Given the description of an element on the screen output the (x, y) to click on. 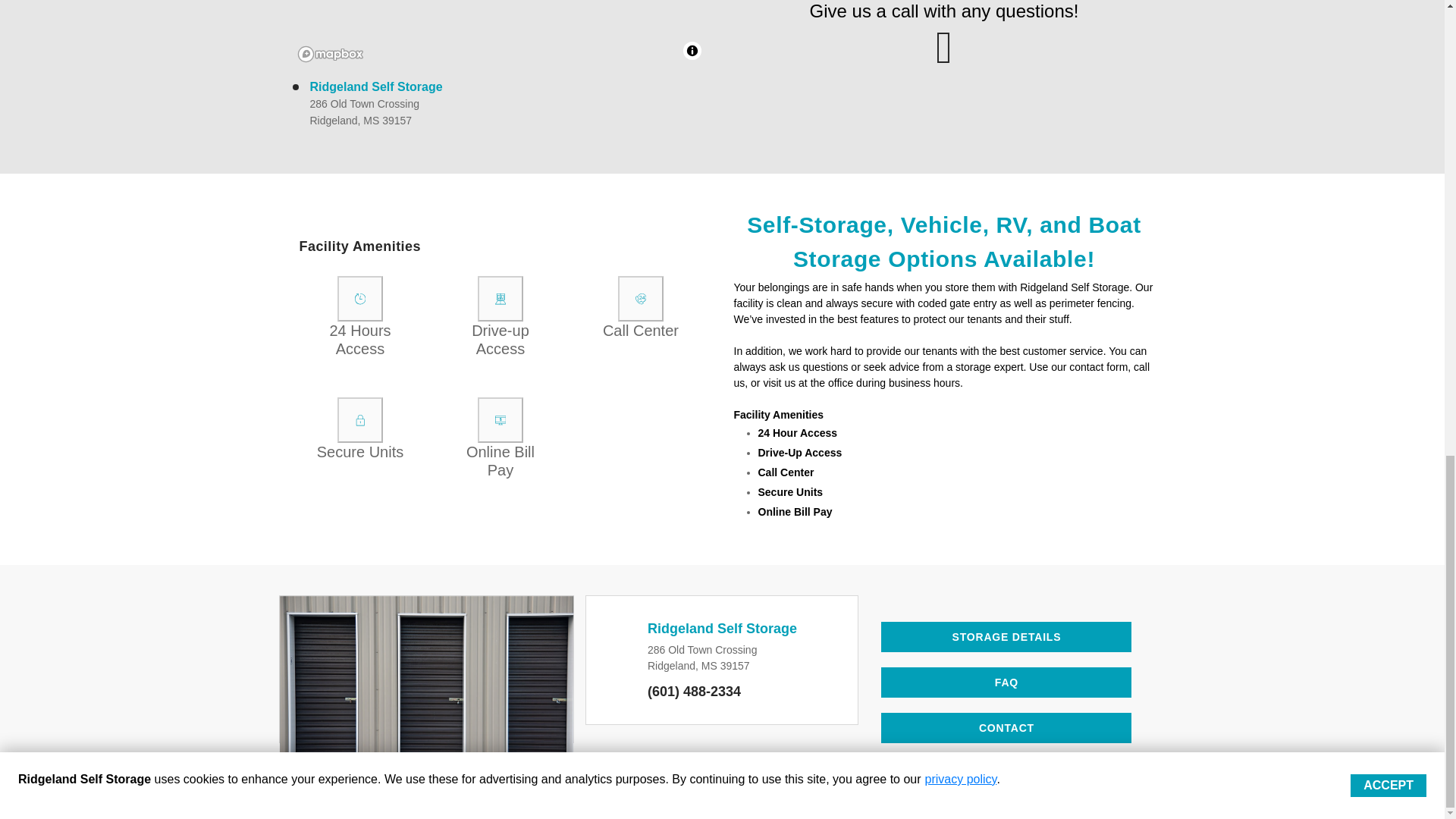
Secure Units (359, 420)
Secure Units (360, 419)
Ridgeland Self Storage (375, 86)
Drive-up Access (500, 298)
CONTACT (1005, 727)
Call Center (640, 298)
Call Center (640, 298)
Online Bill Pay (499, 420)
24 Hours Access (360, 298)
Drive-up Access (499, 298)
